Given the description of an element on the screen output the (x, y) to click on. 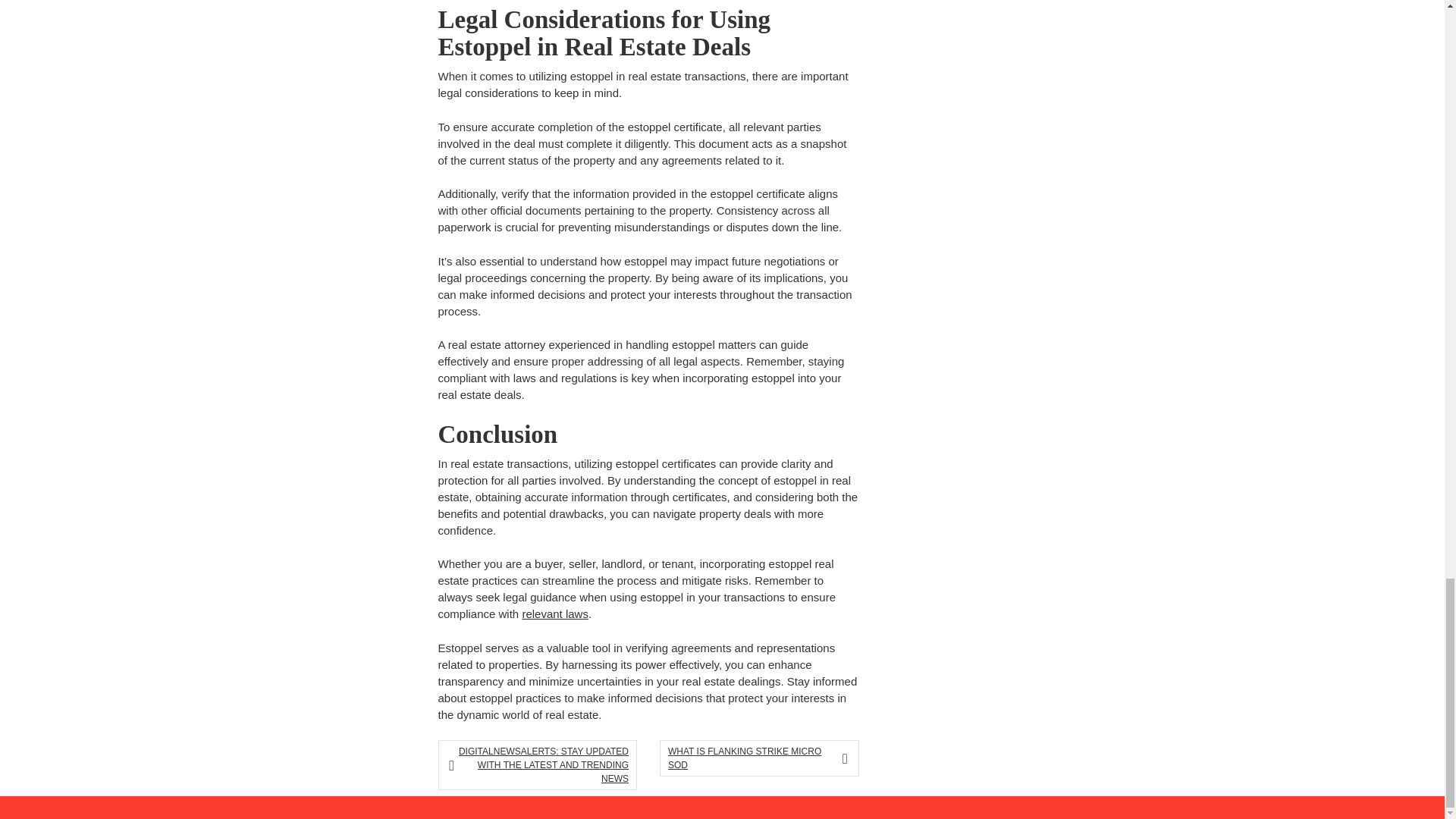
WHAT IS FLANKING STRIKE MICRO SOD (754, 758)
relevant laws (554, 613)
